Given the description of an element on the screen output the (x, y) to click on. 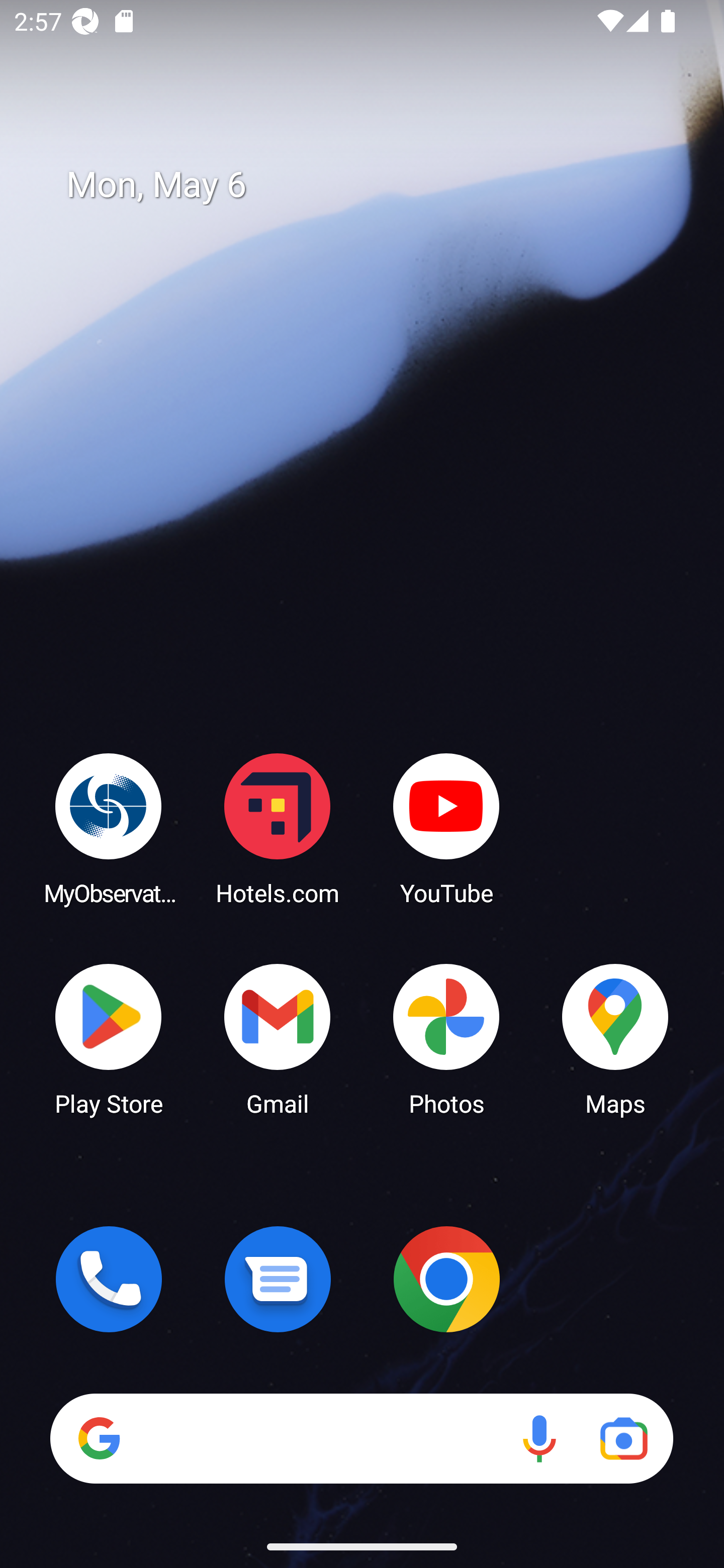
Mon, May 6 (375, 184)
MyObservatory (108, 828)
Hotels.com (277, 828)
YouTube (445, 828)
Play Store (108, 1038)
Gmail (277, 1038)
Photos (445, 1038)
Maps (615, 1038)
Phone (108, 1279)
Messages (277, 1279)
Chrome (446, 1279)
Search Voice search Google Lens (361, 1438)
Voice search (539, 1438)
Google Lens (623, 1438)
